Given the description of an element on the screen output the (x, y) to click on. 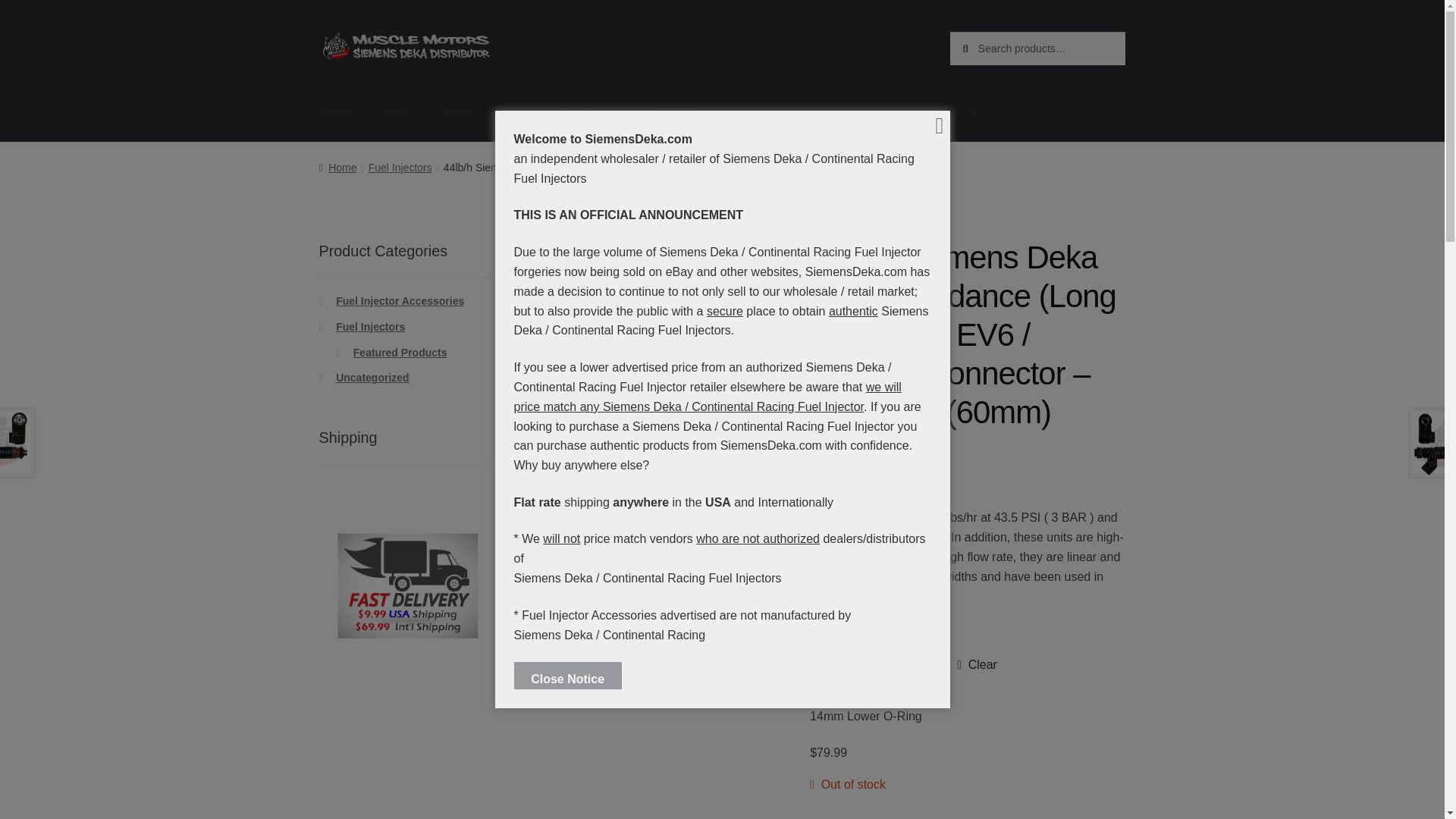
Injector FAQ (467, 110)
View your shopping cart (1037, 110)
Home (335, 110)
Home (337, 167)
Clear (976, 664)
Fuel Injectors (400, 167)
Contact Us (666, 110)
My Account (569, 110)
